Given the description of an element on the screen output the (x, y) to click on. 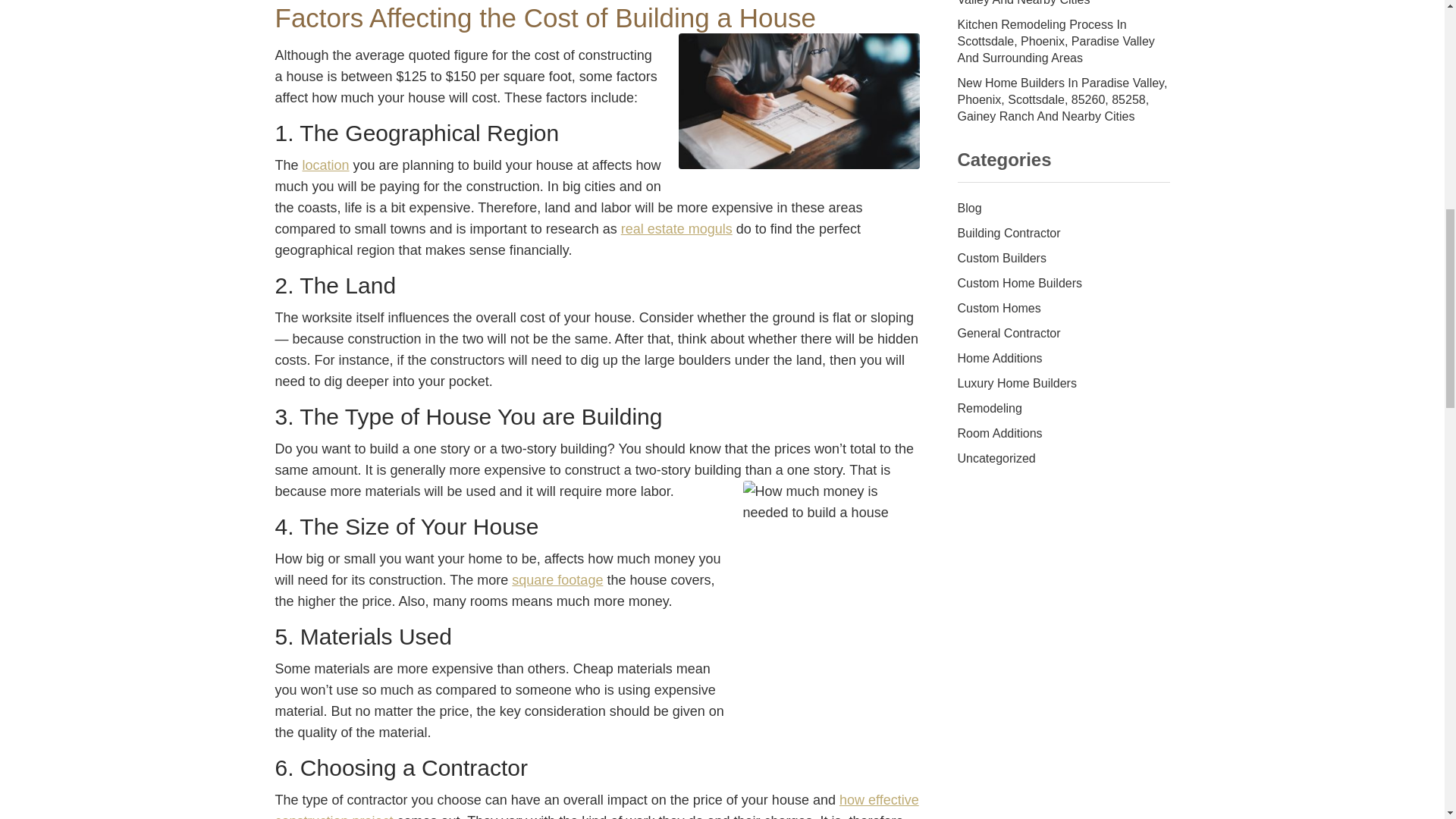
Building Contractor (1062, 233)
how effective construction project (596, 805)
location (325, 165)
General Contractor (1062, 333)
square footage (557, 580)
How Much Money is Needed to Build a House? (798, 100)
Blog (1062, 208)
